Given the description of an element on the screen output the (x, y) to click on. 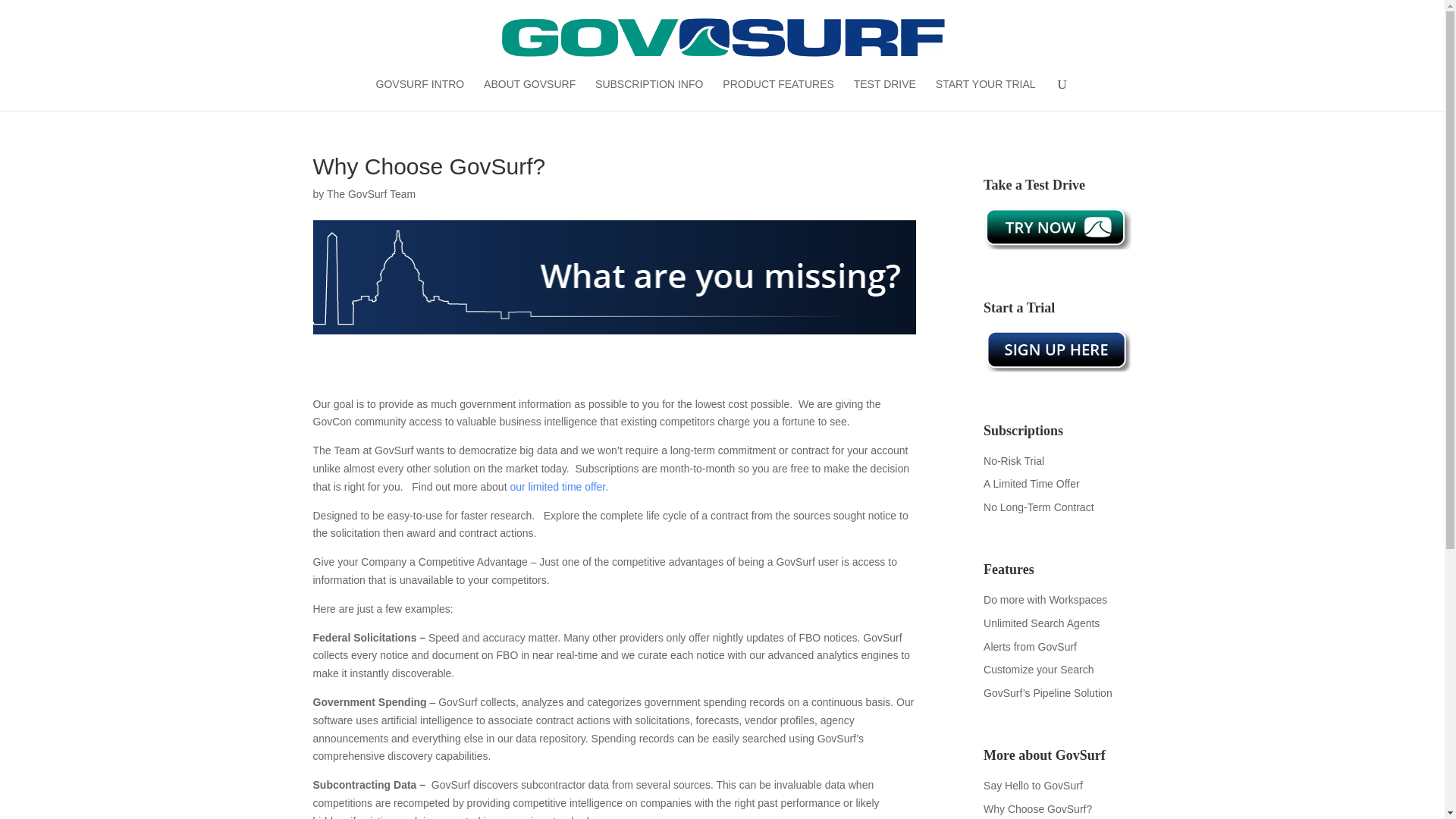
Start a Trial (1057, 351)
PRODUCT FEATURES (778, 94)
SUBSCRIPTION INFO (649, 94)
Do more with Workspaces (1045, 599)
Unlimited Search Agents (1041, 623)
Say Hello to GovSurf (1033, 785)
our limited time offer. (558, 486)
Why Choose GovSurf? (1038, 808)
GOVSURF INTRO (419, 94)
A Limited Time Offer (1032, 483)
No Long-Term Contract (1039, 507)
Alerts from GovSurf (1030, 646)
Posts by The GovSurf Team (370, 193)
Take a Test Drive (1057, 228)
ABOUT GOVSURF (529, 94)
